Given the description of an element on the screen output the (x, y) to click on. 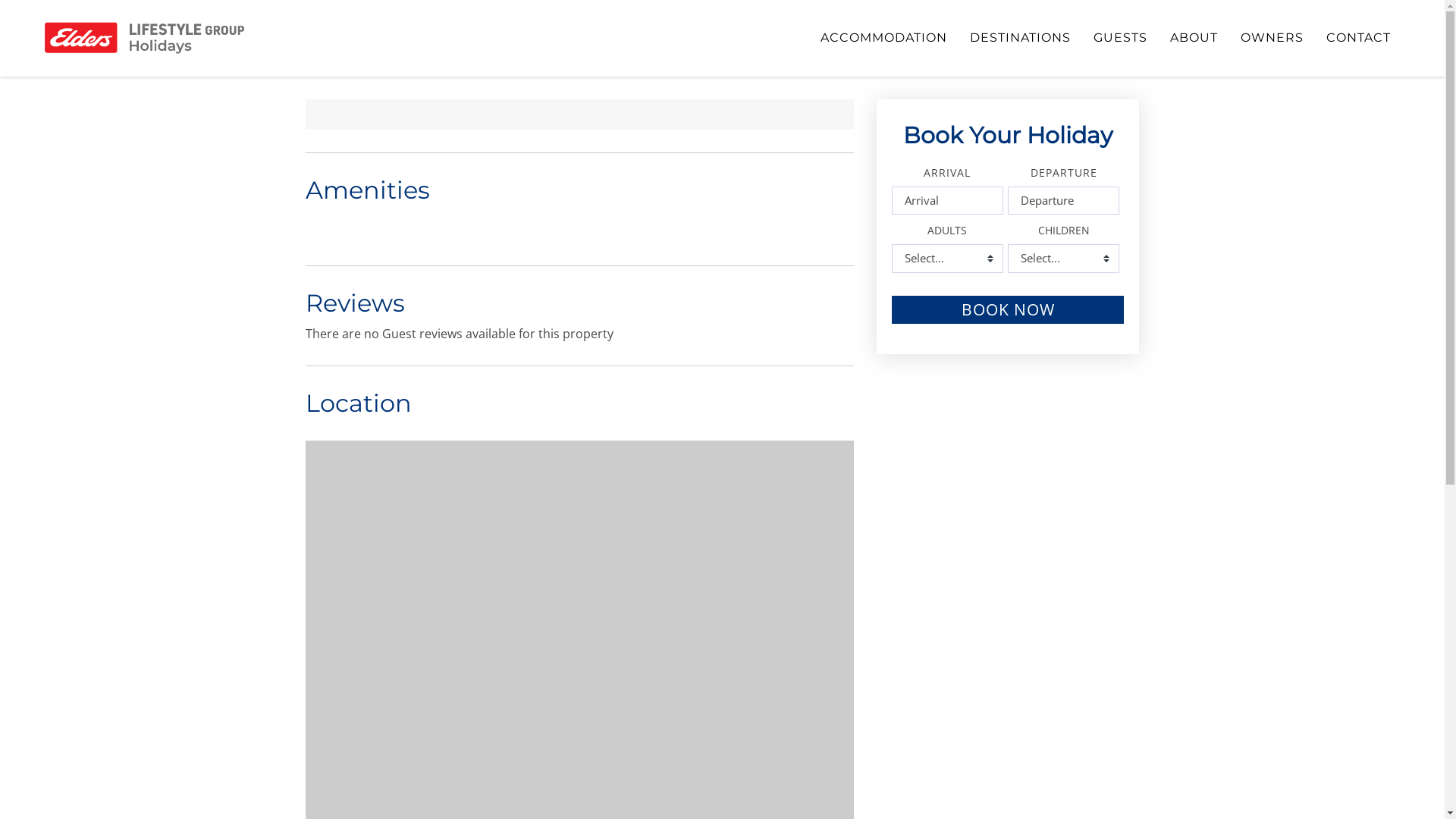
GUESTS Element type: text (1120, 37)
CONTACT Element type: text (1358, 37)
DESTINATIONS Element type: text (1020, 37)
ABOUT Element type: text (1193, 37)
ACCOMMODATION Element type: text (883, 37)
OWNERS Element type: text (1271, 37)
BOOK NOW Element type: text (1007, 309)
